Given the description of an element on the screen output the (x, y) to click on. 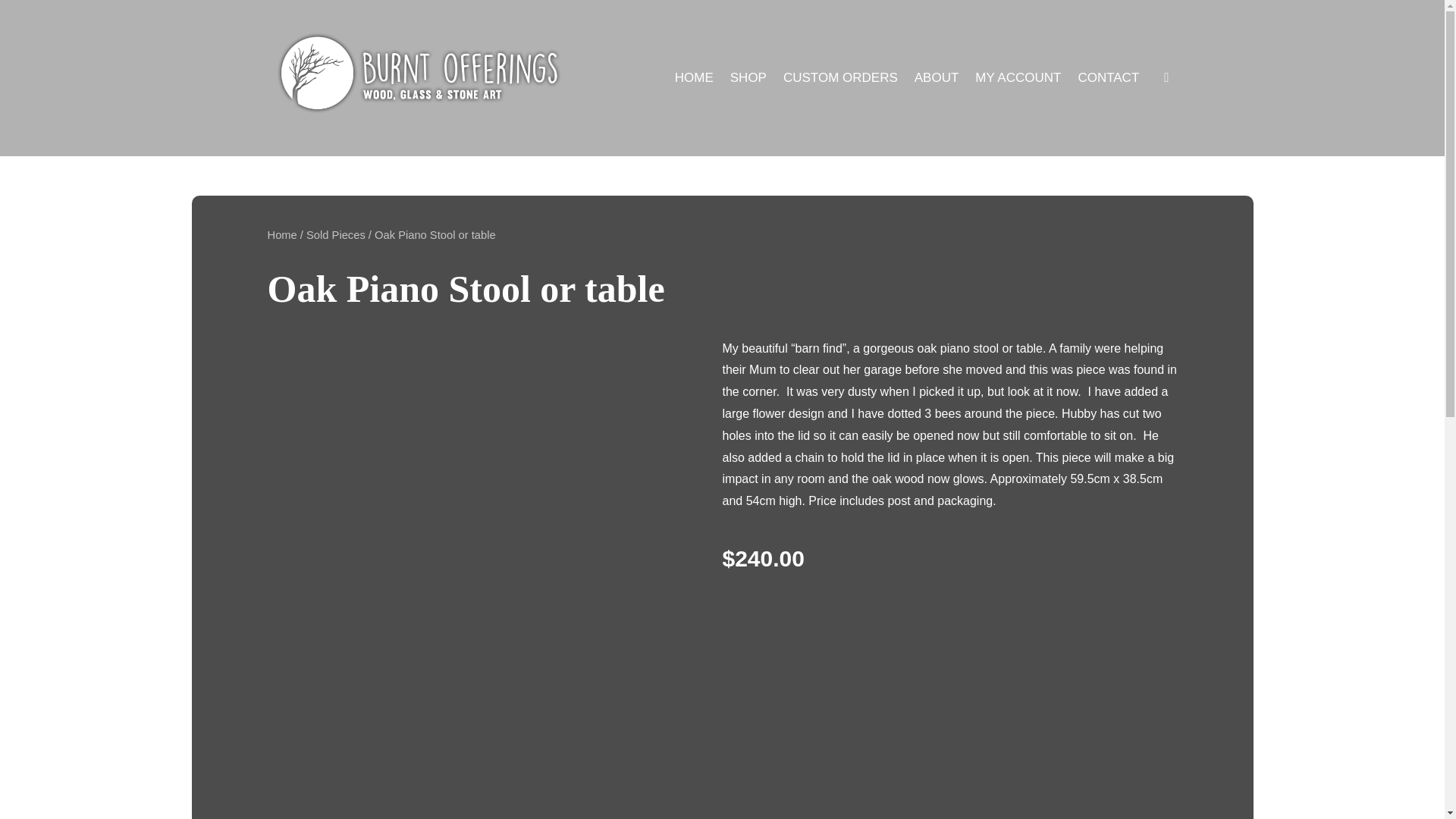
MY ACCOUNT (1018, 80)
ABOUT (936, 80)
CONTACT (1107, 80)
Sold Pieces (335, 234)
CUSTOM ORDERS (840, 80)
HOME (694, 80)
SHOP (748, 80)
Home (281, 234)
